Given the description of an element on the screen output the (x, y) to click on. 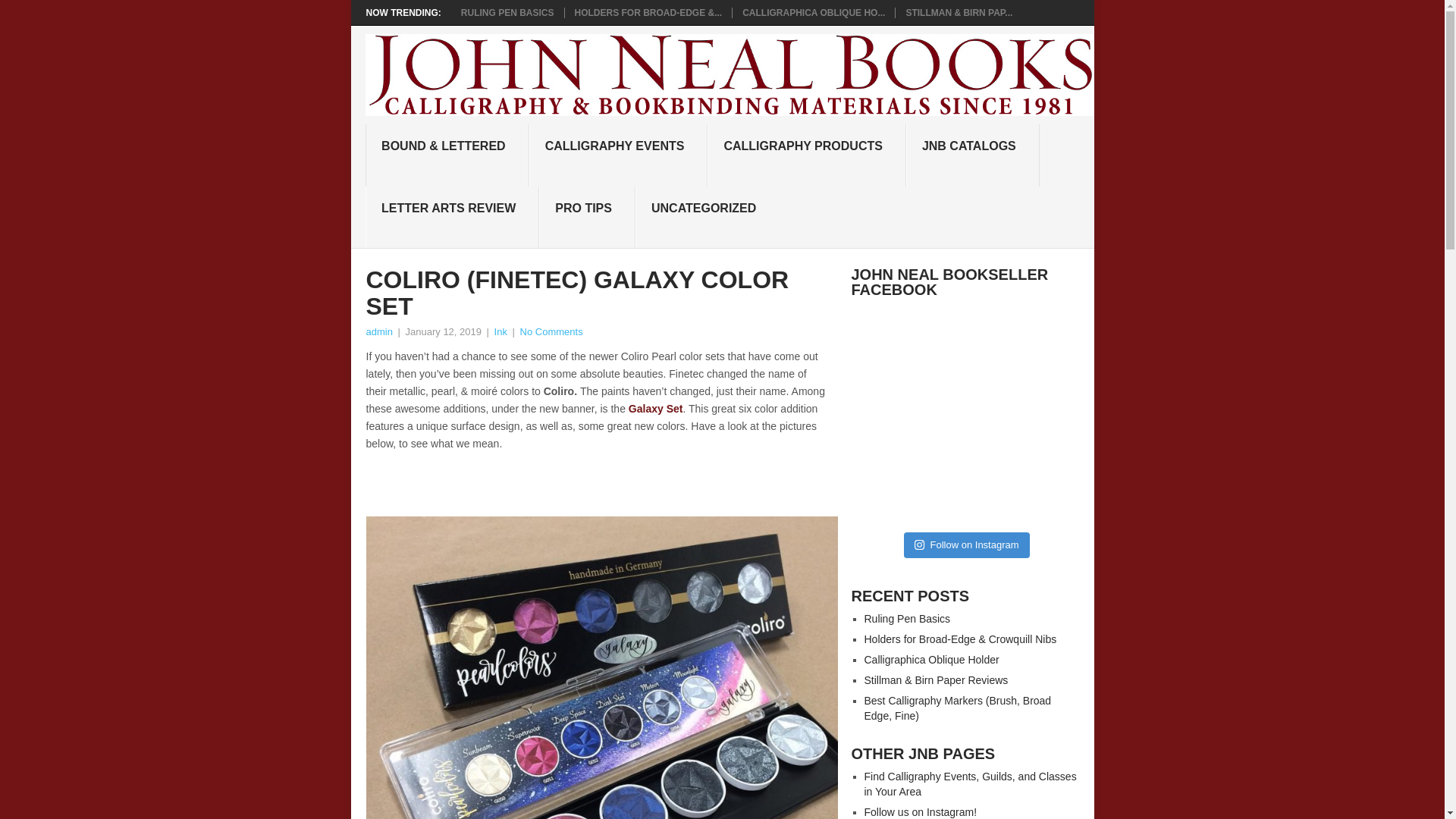
No Comments (551, 331)
admin (378, 331)
CALLIGRAPHY PRODUCTS (806, 155)
UNCATEGORIZED (706, 217)
LETTER ARTS REVIEW (451, 217)
CALLIGRAPHICA OBLIQUE HO... (813, 12)
Ruling Pen Basics (507, 12)
Posts by admin (378, 331)
Galaxy Set (655, 408)
